Given the description of an element on the screen output the (x, y) to click on. 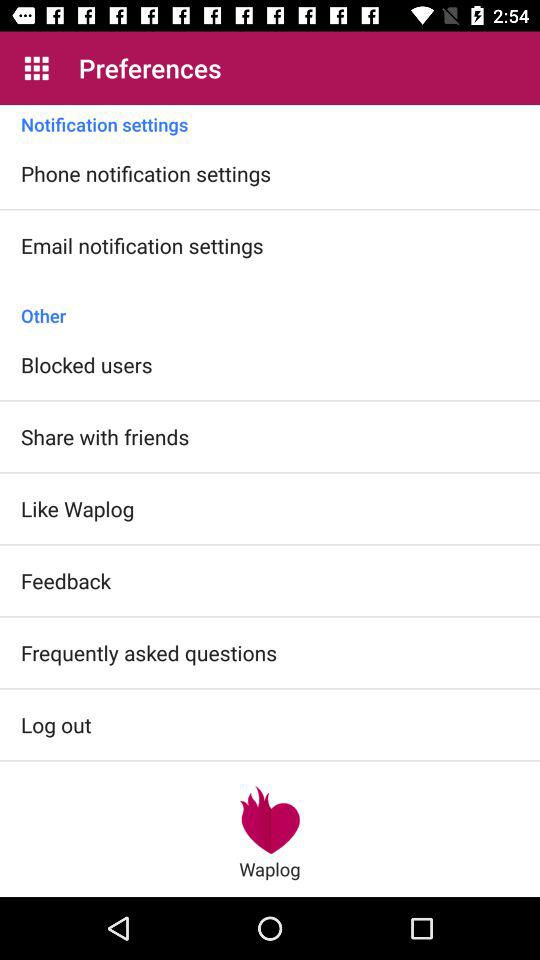
swipe until other item (270, 305)
